Given the description of an element on the screen output the (x, y) to click on. 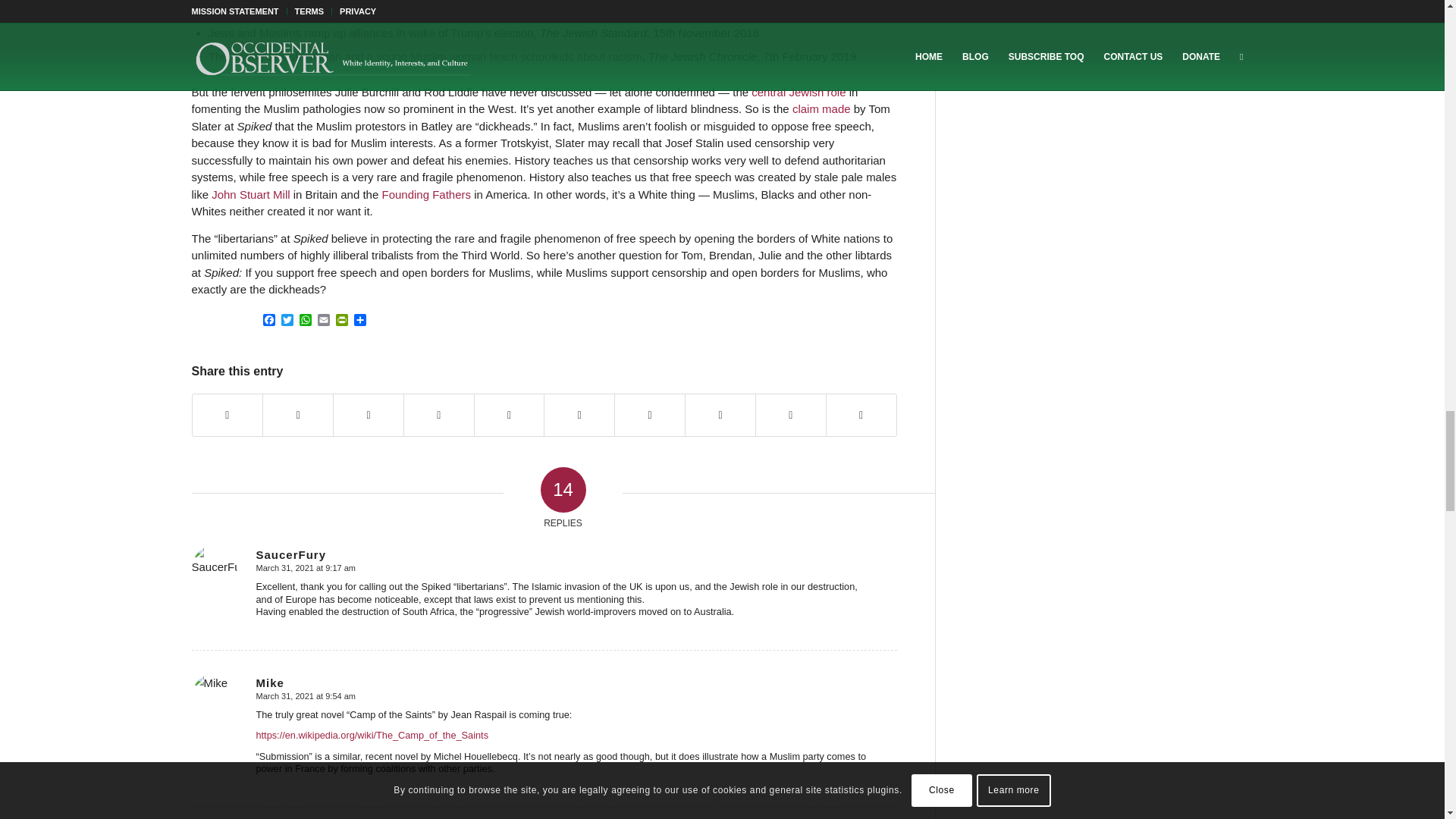
Twitter (286, 320)
Facebook (268, 320)
PrintFriendly (340, 320)
WhatsApp (304, 320)
Email (322, 320)
